Given the description of an element on the screen output the (x, y) to click on. 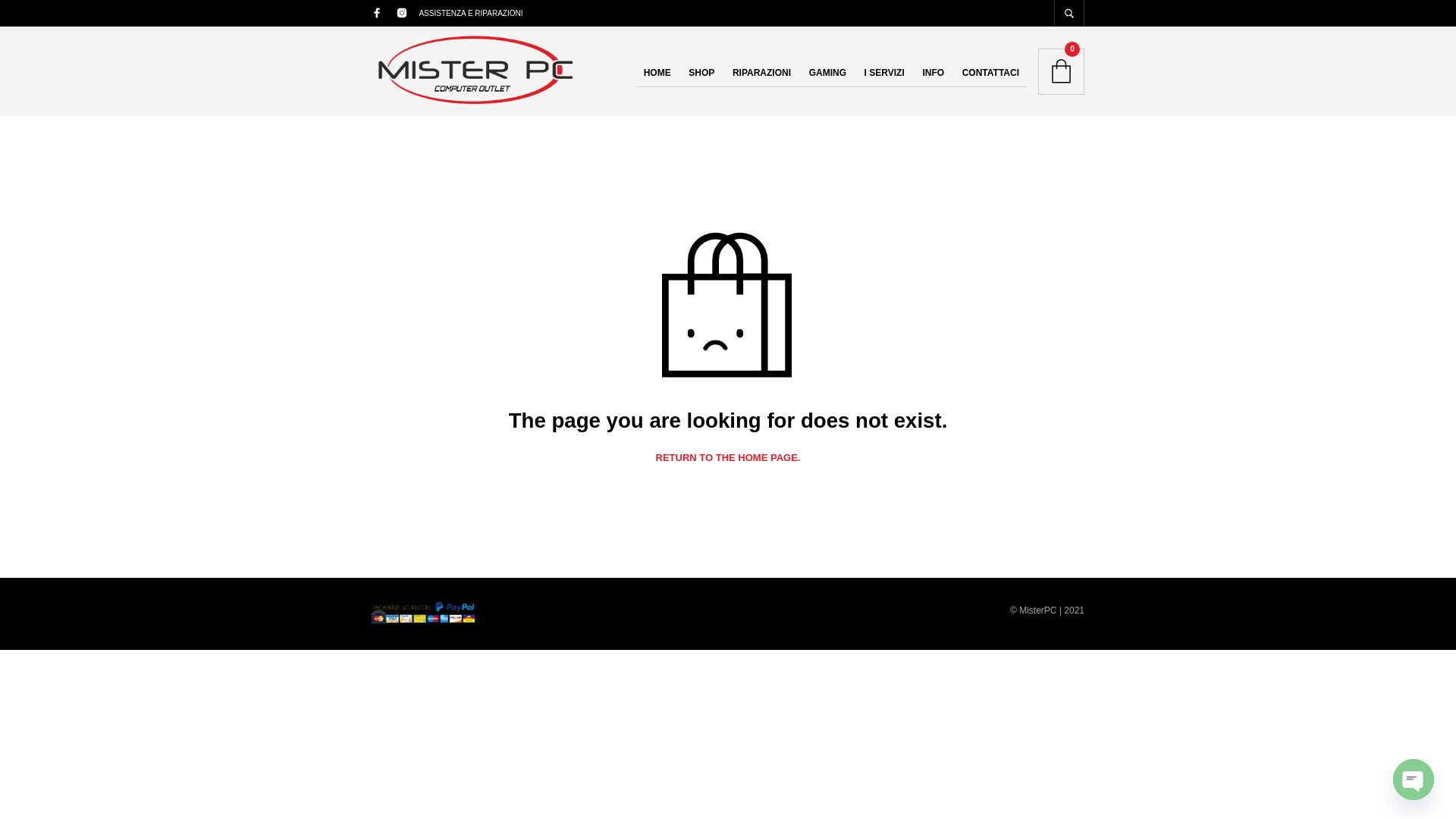
INFO (933, 72)
HOME (657, 72)
RETURN TO THE HOME PAGE. (727, 458)
I SERVIZI (884, 72)
CONTATTACI (990, 72)
0 (1061, 71)
SHOP (701, 72)
GAMING (827, 72)
RIPARAZIONI (761, 72)
